Given the description of an element on the screen output the (x, y) to click on. 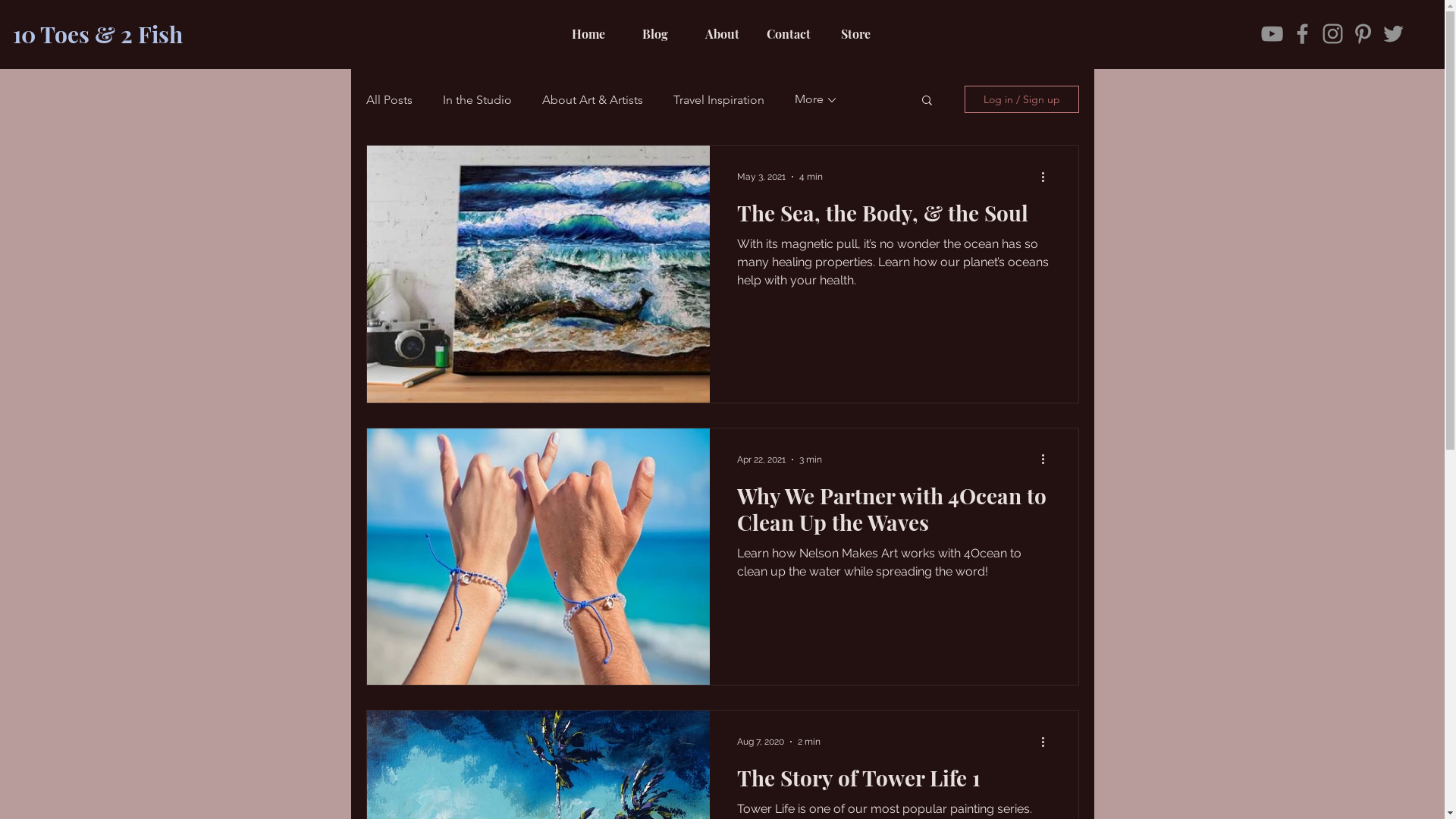
About Art & Artists Element type: text (591, 99)
About Element type: text (721, 33)
The Sea, the Body, & the Soul Element type: text (894, 216)
Blog Element type: text (654, 33)
Why We Partner with 4Ocean to Clean Up the Waves Element type: text (894, 511)
Log in / Sign up Element type: text (1021, 98)
Home Element type: text (588, 33)
10 Toes & 2 Fish Element type: text (97, 33)
In the Studio Element type: text (476, 99)
Contact Element type: text (788, 33)
All Posts Element type: text (388, 99)
The Story of Tower Life 1 Element type: text (894, 781)
Store Element type: text (855, 33)
Travel Inspiration Element type: text (718, 99)
